Given the description of an element on the screen output the (x, y) to click on. 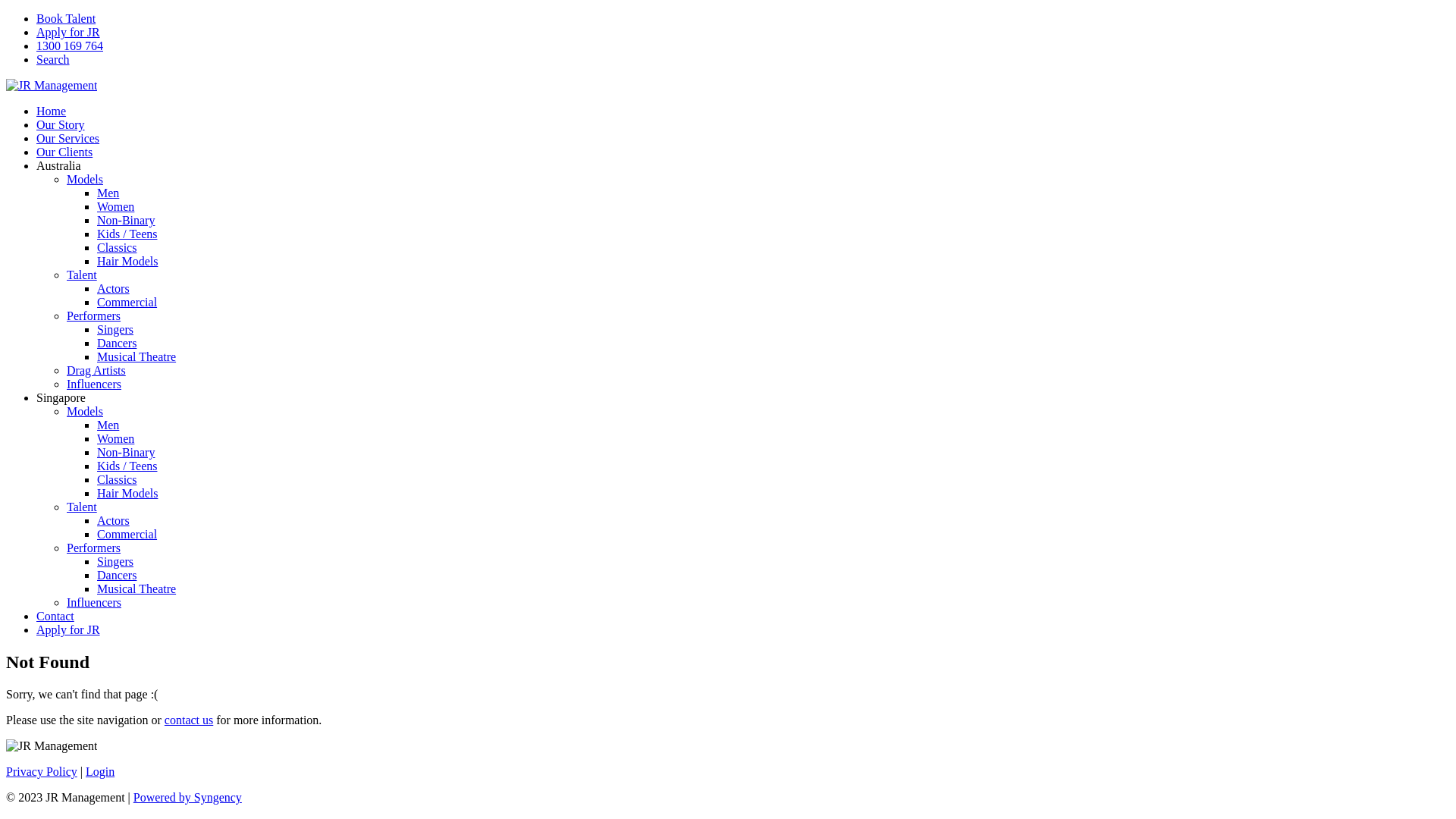
Commercial Element type: text (126, 533)
Powered by Syngency Element type: text (187, 796)
Singers Element type: text (115, 561)
Models Element type: text (84, 178)
Hair Models Element type: text (127, 492)
Kids / Teens Element type: text (126, 233)
Performers Element type: text (93, 315)
Search Element type: text (52, 59)
Our Story Element type: text (60, 124)
Musical Theatre Element type: text (136, 356)
Apply for JR Element type: text (68, 31)
Men Element type: text (108, 192)
Commercial Element type: text (126, 301)
Non-Binary Element type: text (125, 219)
Privacy Policy Element type: text (41, 771)
Influencers Element type: text (93, 383)
Contact Element type: text (55, 615)
Non-Binary Element type: text (125, 451)
Login Element type: text (99, 771)
Our Clients Element type: text (64, 151)
Talent Element type: text (81, 506)
Musical Theatre Element type: text (136, 588)
Return to Home Element type: hover (51, 84)
Book Talent Element type: text (65, 18)
Drag Artists Element type: text (95, 370)
Dancers Element type: text (116, 574)
Men Element type: text (108, 424)
contact us Element type: text (188, 719)
Hair Models Element type: text (127, 260)
Home Element type: text (50, 110)
Women Element type: text (115, 206)
Our Services Element type: text (67, 137)
Influencers Element type: text (93, 602)
Kids / Teens Element type: text (126, 465)
Apply for JR Element type: text (68, 629)
Models Element type: text (84, 410)
Actors Element type: text (113, 288)
Dancers Element type: text (116, 342)
Classics Element type: text (116, 247)
Performers Element type: text (93, 547)
Classics Element type: text (116, 479)
Talent Element type: text (81, 274)
Singers Element type: text (115, 329)
Actors Element type: text (113, 520)
1300 169 764 Element type: text (69, 45)
Women Element type: text (115, 438)
